Given the description of an element on the screen output the (x, y) to click on. 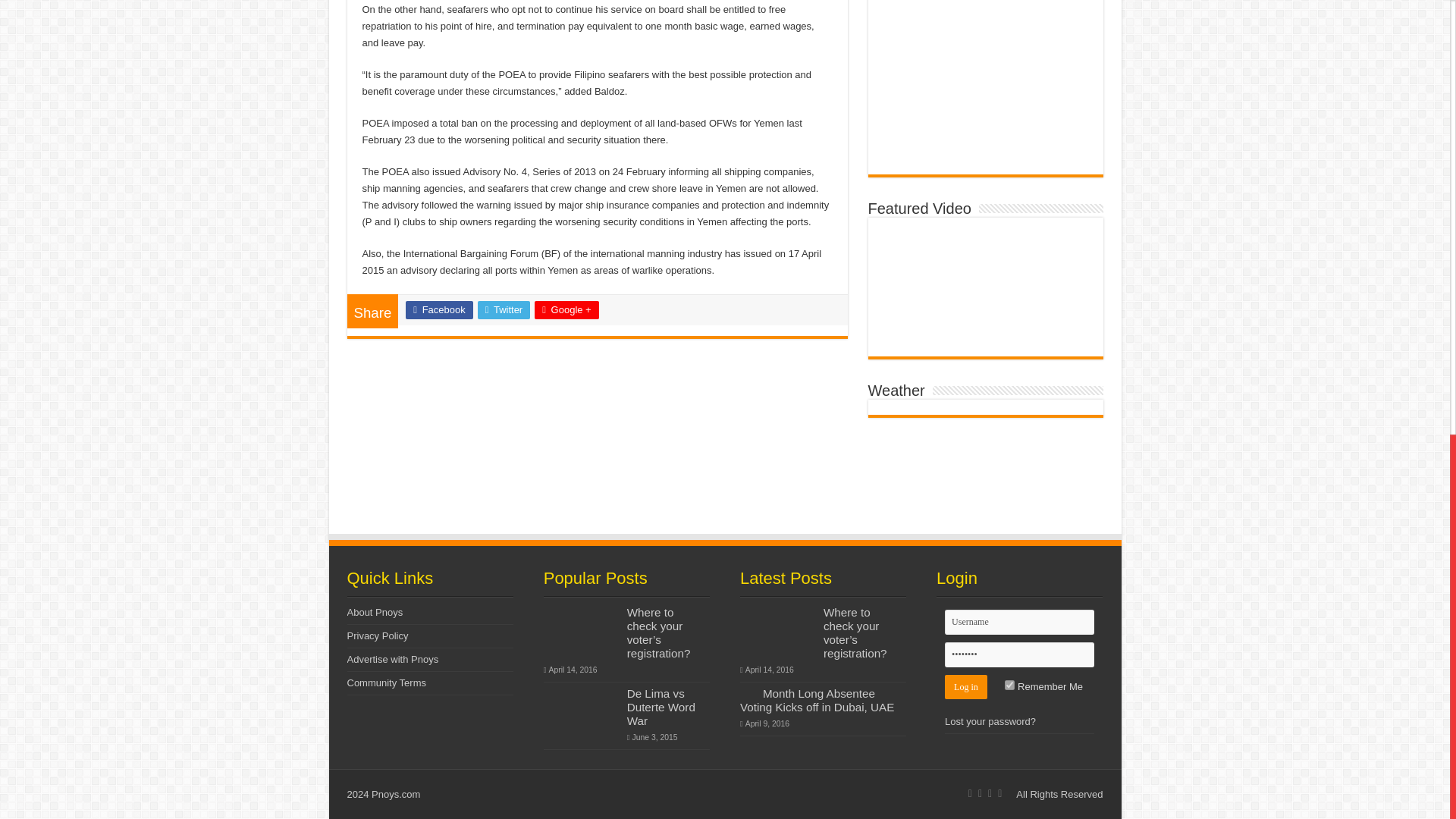
forever (1009, 685)
Log in (965, 686)
Password (1019, 654)
Username (1019, 621)
